Given the description of an element on the screen output the (x, y) to click on. 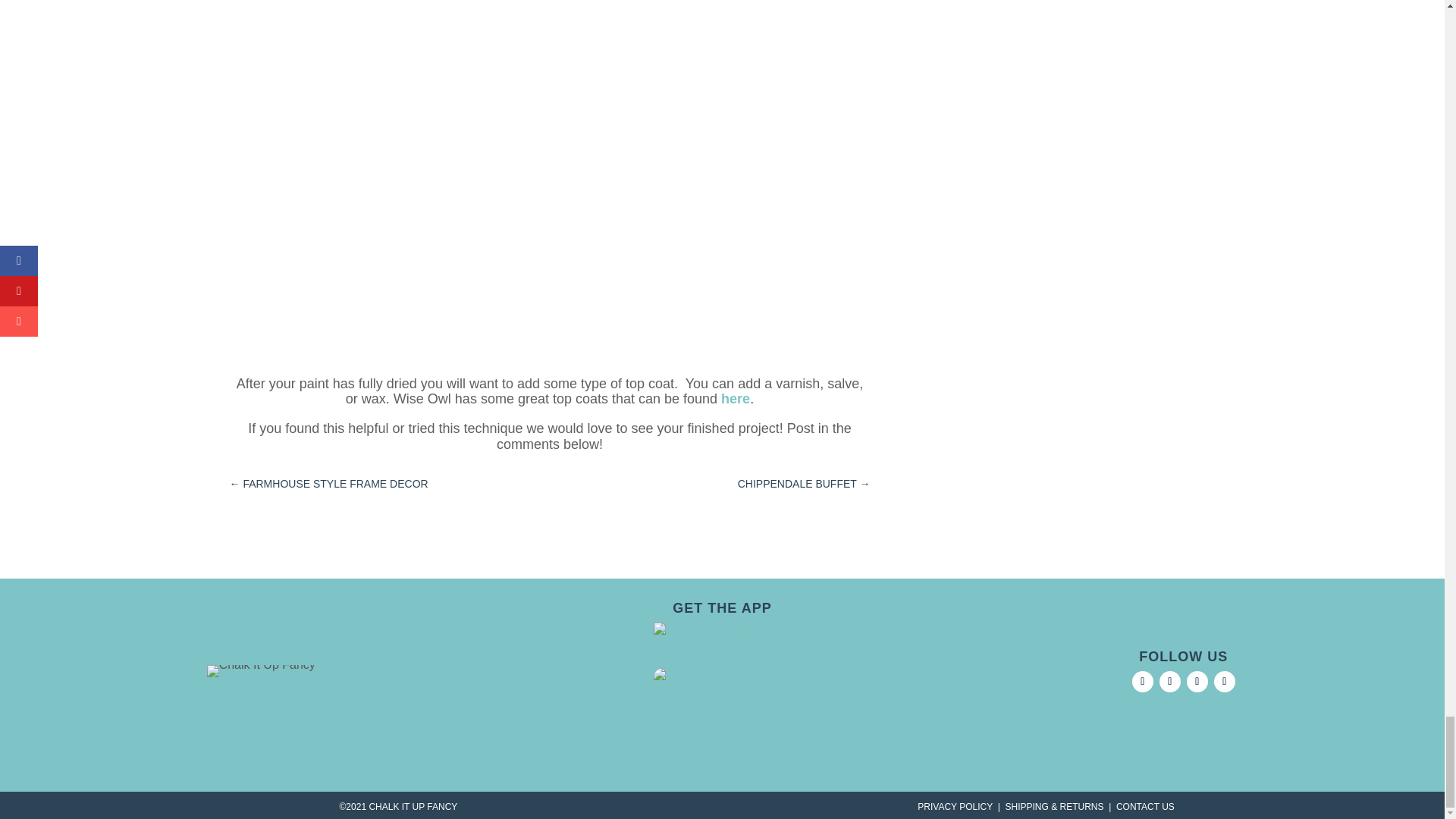
Follow on Youtube (1224, 681)
Follow on Instagram (1169, 681)
Follow on Facebook (1142, 681)
Follow on Pinterest (1197, 681)
